Given the description of an element on the screen output the (x, y) to click on. 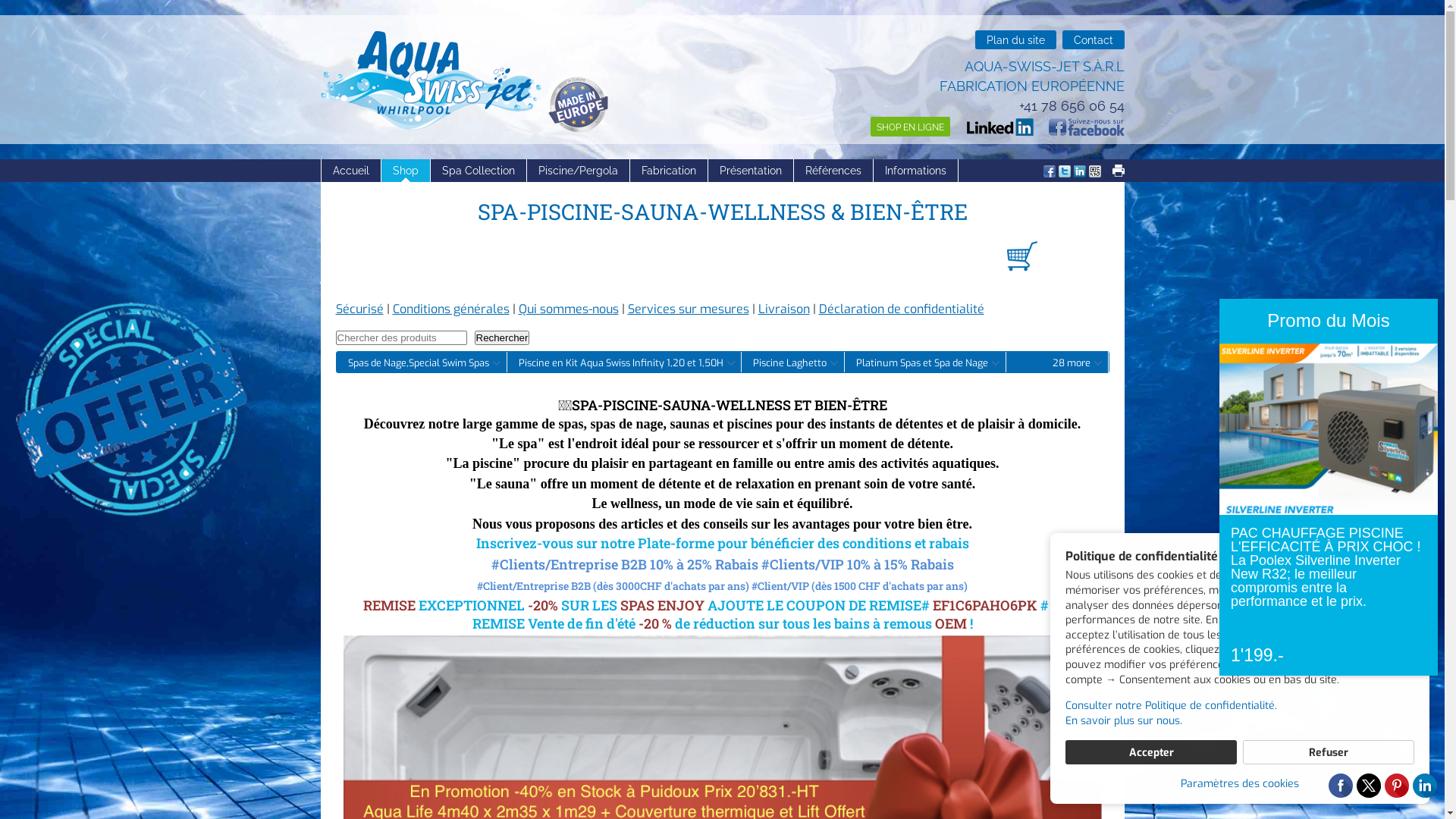
Piscine en Kit Aqua Swiss Infinity 1,20 et 1,50H Element type: text (623, 361)
Spas de Nage,Special Swim Spas Element type: text (421, 361)
En savoir plus sur nous. Element type: text (1239, 720)
Plan du site Element type: text (1015, 39)
Piscine/Pergola Element type: text (577, 170)
Accueil Element type: text (351, 170)
Shop Element type: text (404, 170)
Refuser Element type: text (1328, 752)
Qui sommes-nous Element type: text (568, 308)
Partager sur Facebook Element type: hover (1049, 172)
Version imprimable Element type: hover (1117, 170)
Spa Collection Element type: text (478, 170)
Partager sur Twitter Element type: hover (1064, 172)
Fabrication Element type: text (668, 170)
Informations Element type: text (915, 170)
Platinum Spas et Spa de Nage Element type: text (925, 361)
Services sur mesures Element type: text (688, 308)
SHOP EN LIGNE Element type: text (910, 126)
Afficher le QR-Code Element type: hover (1094, 172)
Contact Element type: text (1092, 39)
Rechercher Element type: text (502, 337)
28 more Element type: text (1073, 361)
Piscine Laghetto Element type: text (792, 361)
Partager sur LinkedIn Element type: hover (1079, 172)
Livraison Element type: text (783, 308)
Accepter Element type: text (1150, 752)
